Given the description of an element on the screen output the (x, y) to click on. 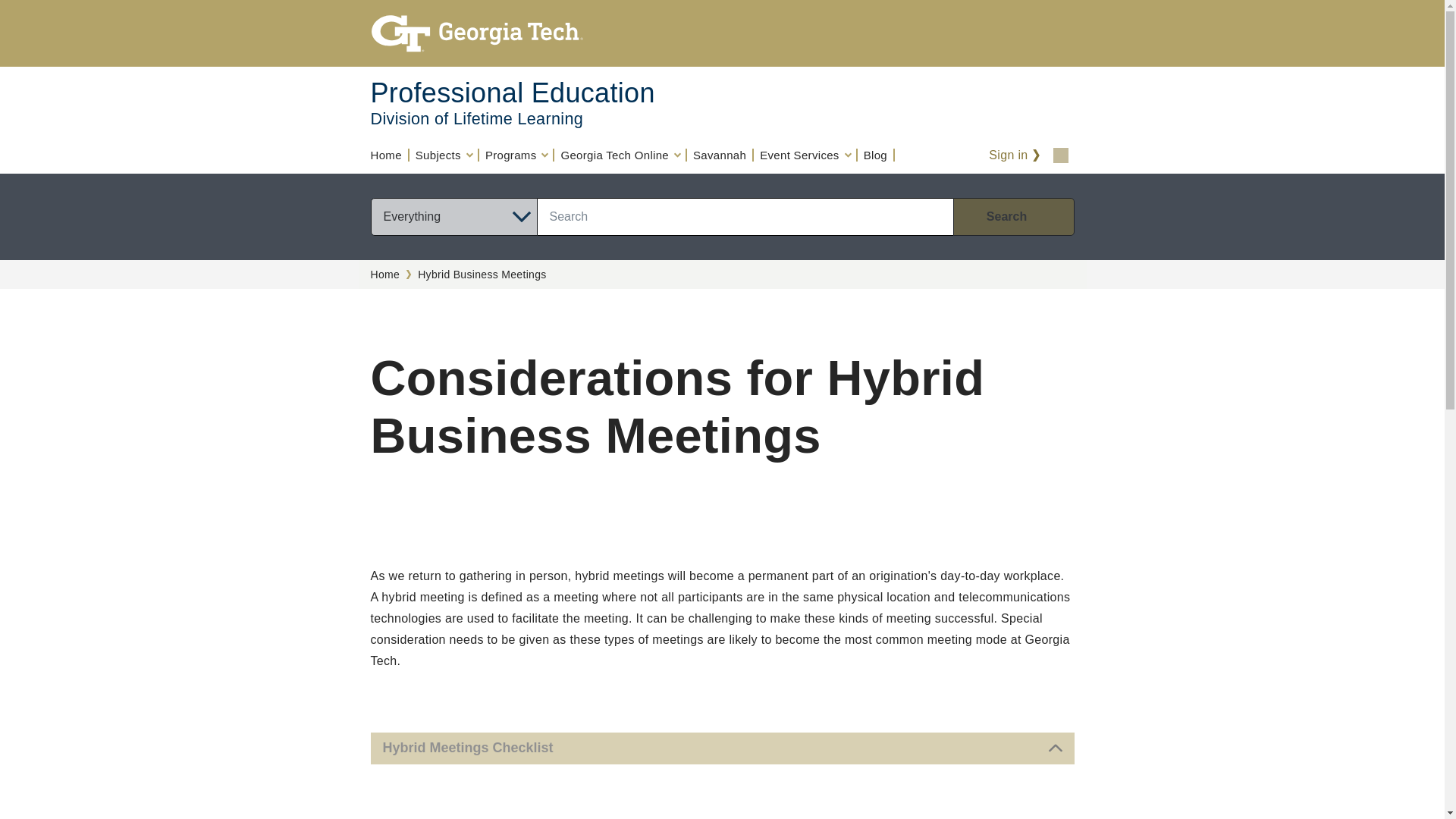
Programs (516, 154)
Georgia Tech Online (620, 154)
Savannah (720, 154)
Home (389, 154)
Professional Education (511, 92)
Search (1013, 216)
Subjects (444, 154)
Enter the terms you wish to search for. (744, 216)
Division of Lifetime Learning (476, 117)
